Given the description of an element on the screen output the (x, y) to click on. 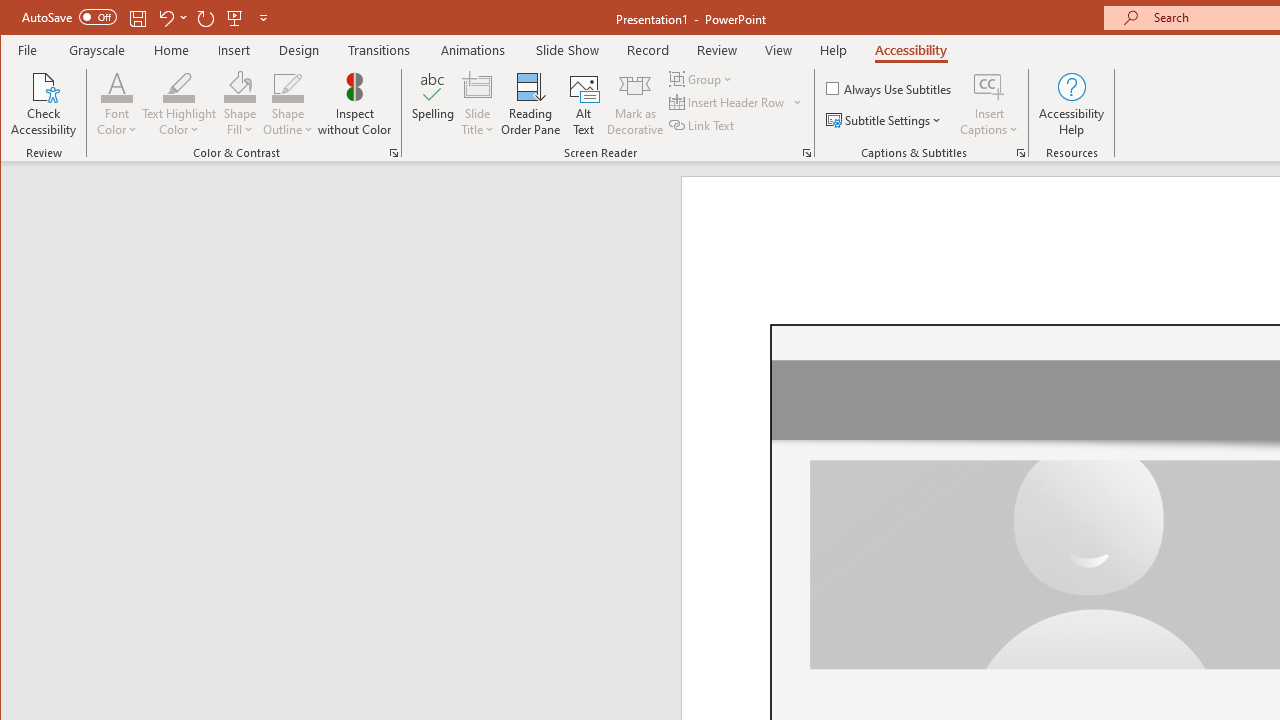
Slide Title (477, 86)
Shape Fill Orange, Accent 2 (239, 86)
Always Use Subtitles (890, 88)
Reading Order Pane (531, 104)
